Given the description of an element on the screen output the (x, y) to click on. 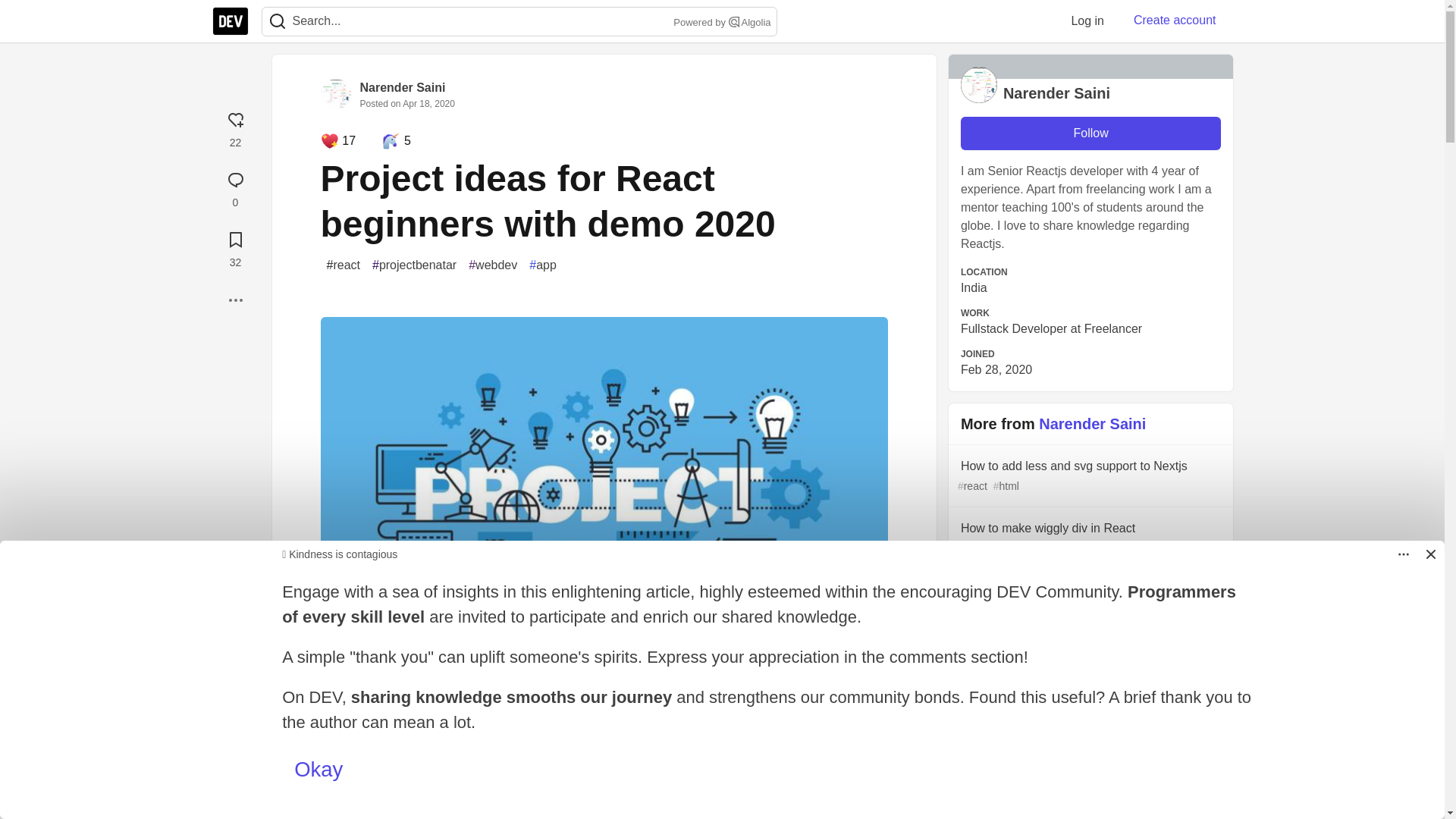
Close (1430, 554)
Powered by Algolia (720, 22)
More... (234, 299)
Log in (1087, 20)
32 (235, 247)
Narender Saini (402, 87)
More... (234, 300)
Saturday, April 18, 2020 at 11:14:25 AM (428, 103)
Dropdown menu (1403, 554)
0 (235, 187)
Create account (1174, 20)
